Given the description of an element on the screen output the (x, y) to click on. 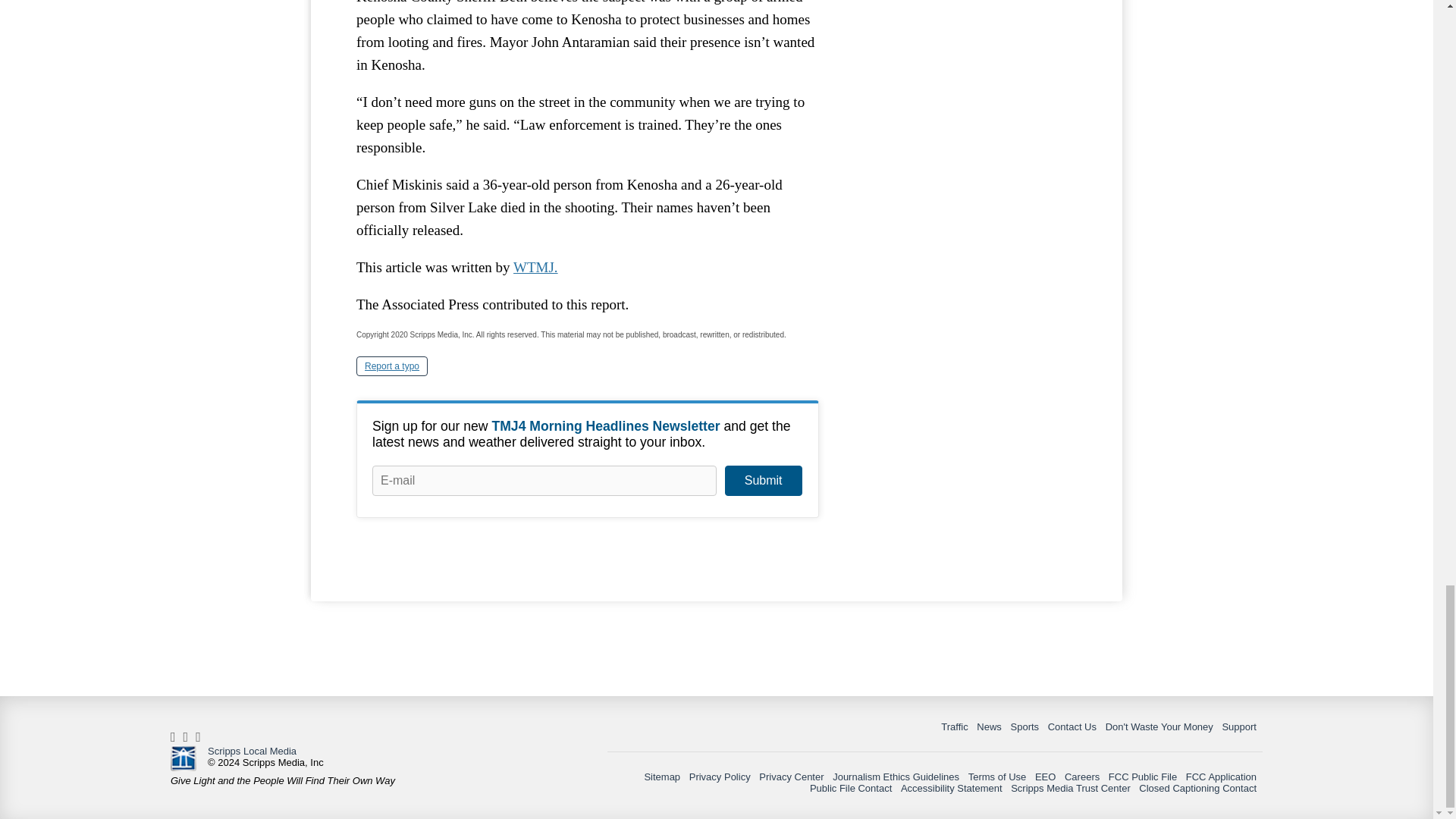
Submit (763, 481)
